Given the description of an element on the screen output the (x, y) to click on. 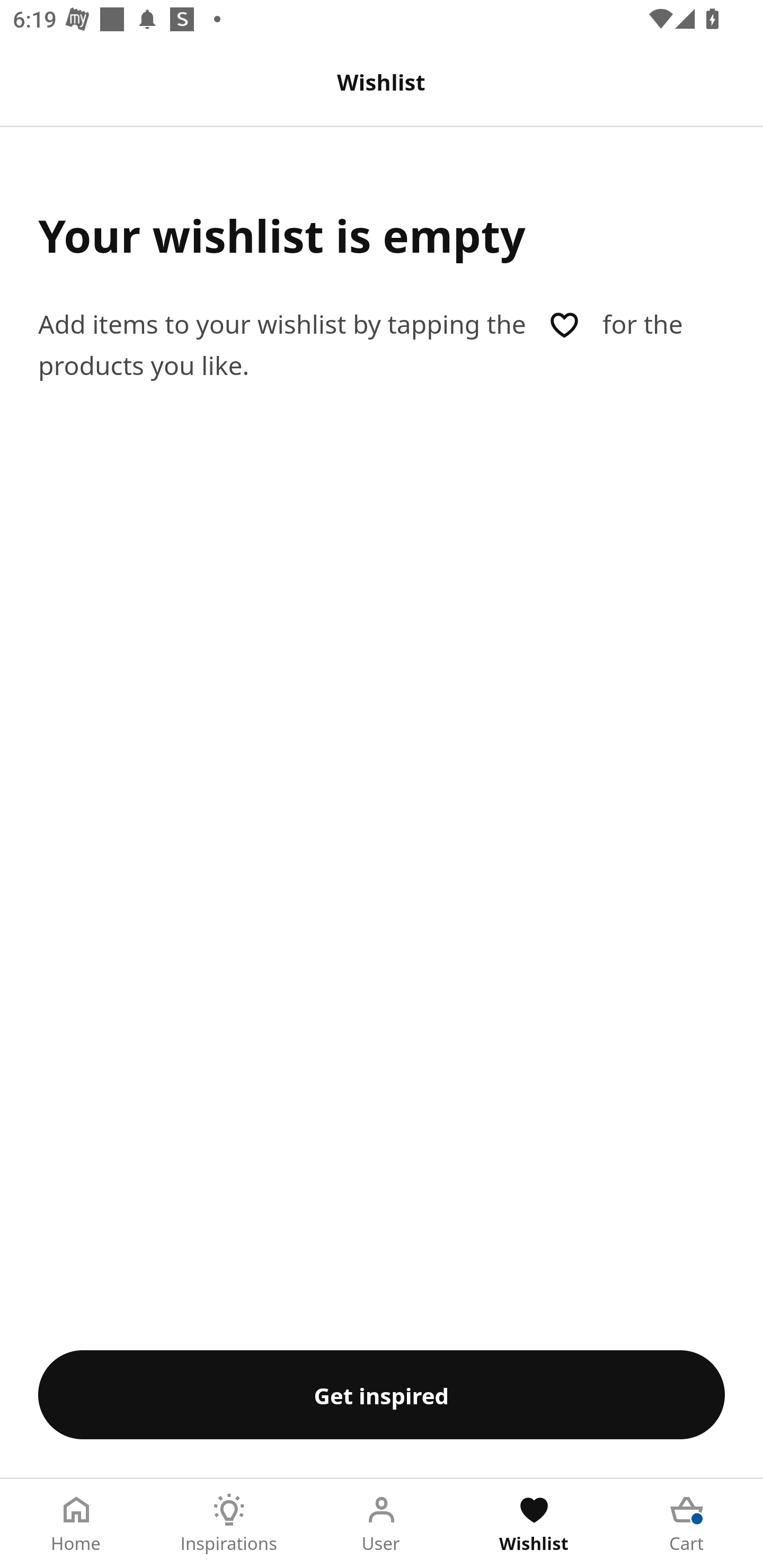
Get inspired (381, 1394)
Home
Tab 1 of 5 (76, 1522)
Inspirations
Tab 2 of 5 (228, 1522)
User
Tab 3 of 5 (381, 1522)
Wishlist
Tab 4 of 5 (533, 1522)
Cart
Tab 5 of 5 (686, 1522)
